Given the description of an element on the screen output the (x, y) to click on. 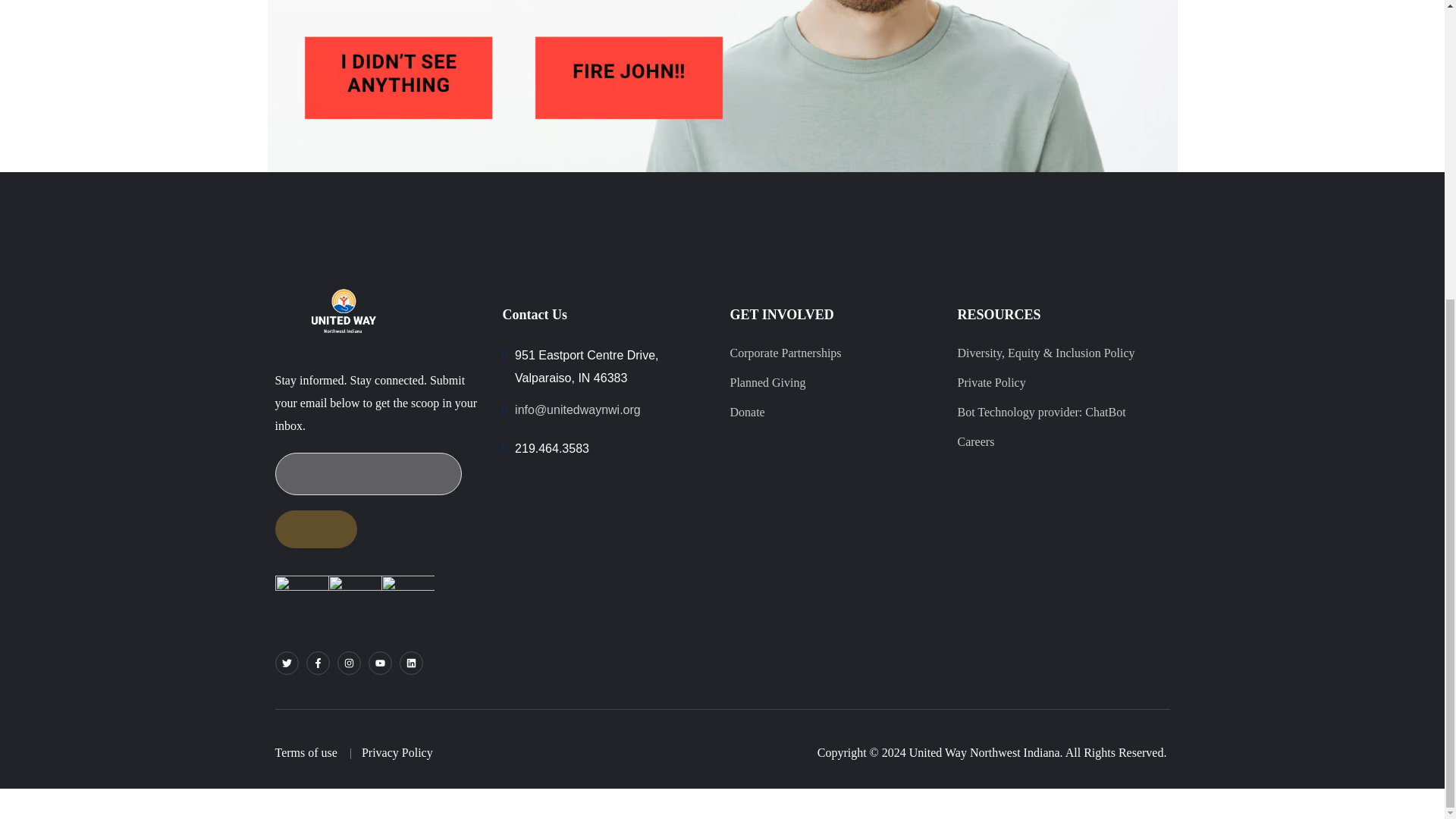
Facebook (317, 662)
Twitter (286, 662)
LinkedIn (410, 662)
Instagram (347, 662)
Sign up (315, 528)
YouTube (379, 662)
